Given the description of an element on the screen output the (x, y) to click on. 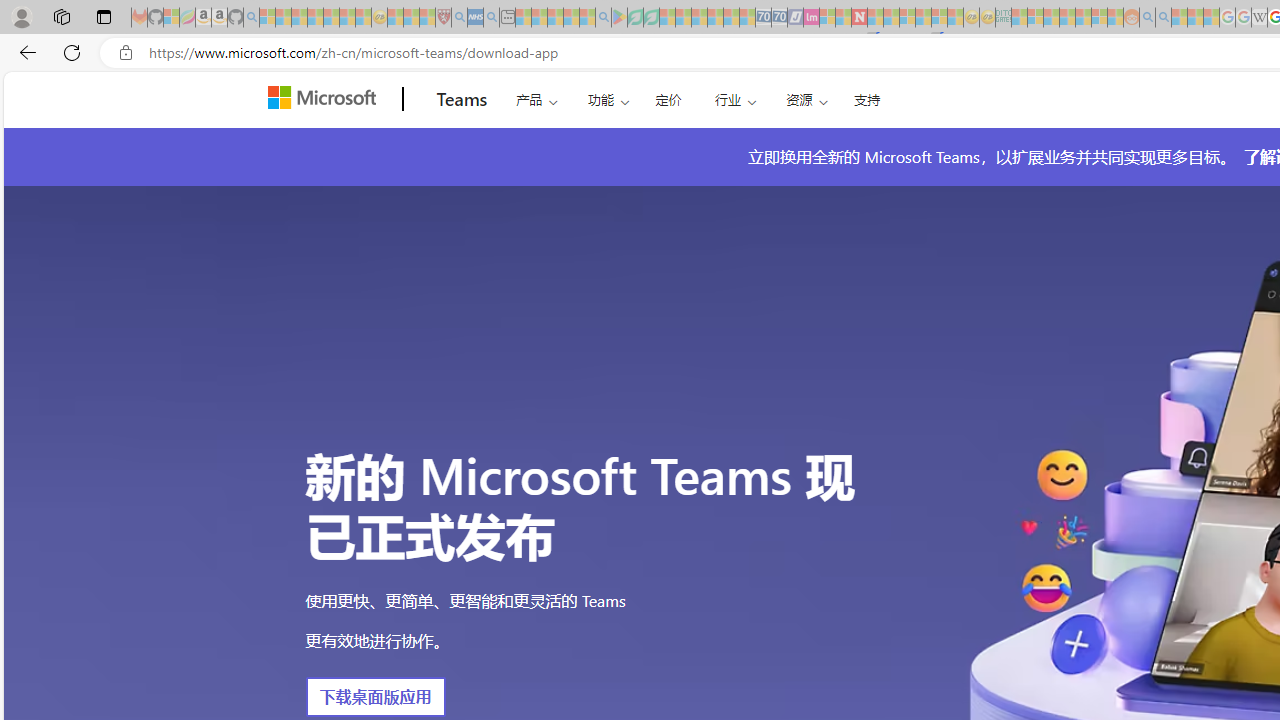
Jobs - lastminute.com Investor Portal - Sleeping (811, 17)
Teams (461, 99)
google - Search - Sleeping (603, 17)
